Given the description of an element on the screen output the (x, y) to click on. 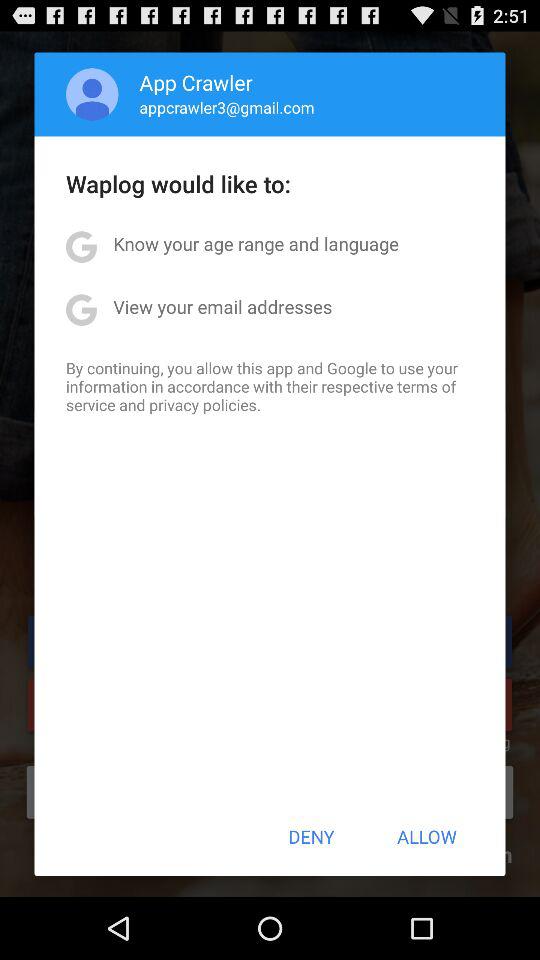
launch item to the left of app crawler app (92, 94)
